Given the description of an element on the screen output the (x, y) to click on. 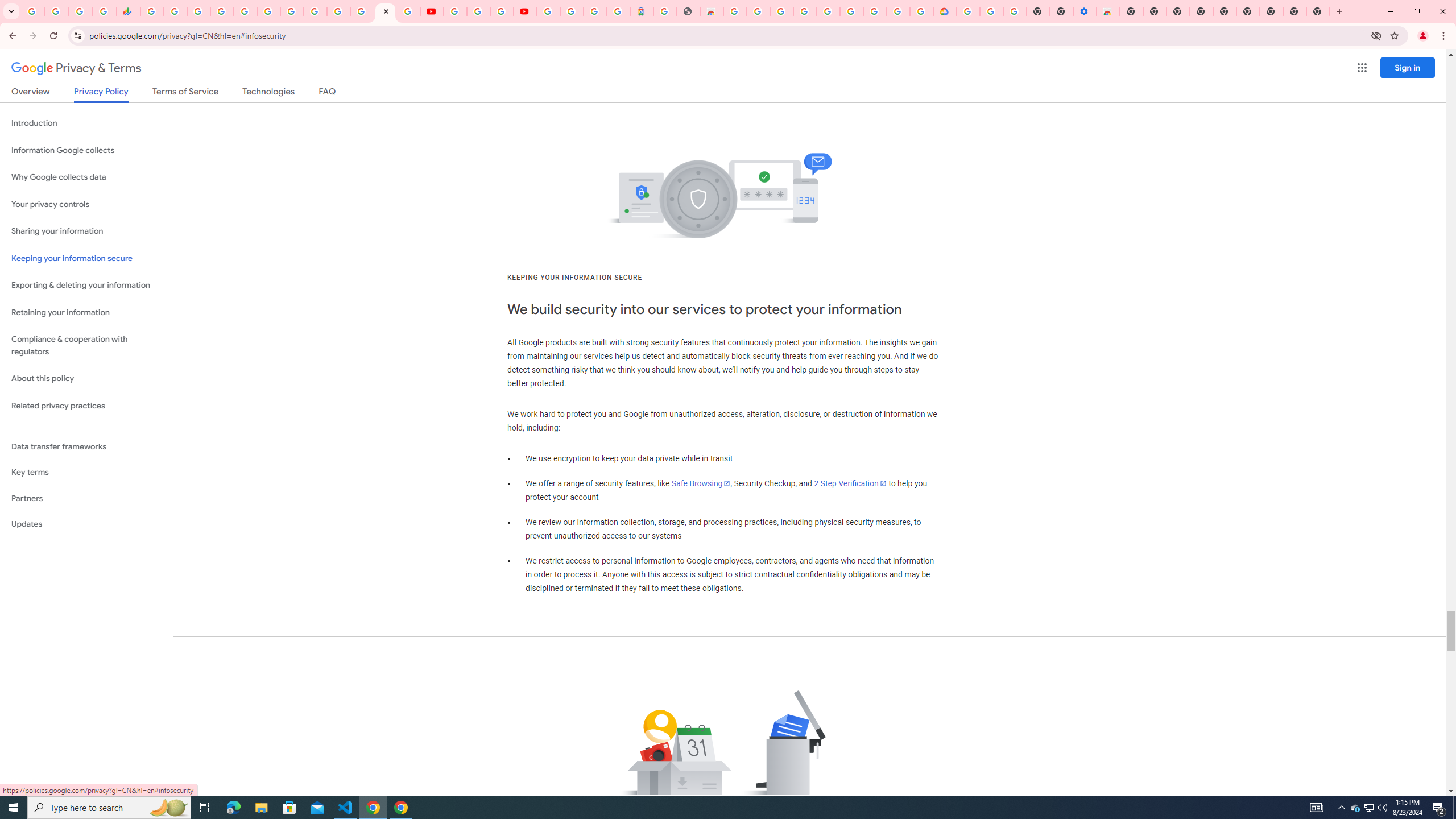
Privacy Checkup (408, 11)
Sign in - Google Accounts (338, 11)
Sign in - Google Accounts (221, 11)
YouTube (431, 11)
Ad Settings (804, 11)
Settings - Accessibility (1085, 11)
